Given the description of an element on the screen output the (x, y) to click on. 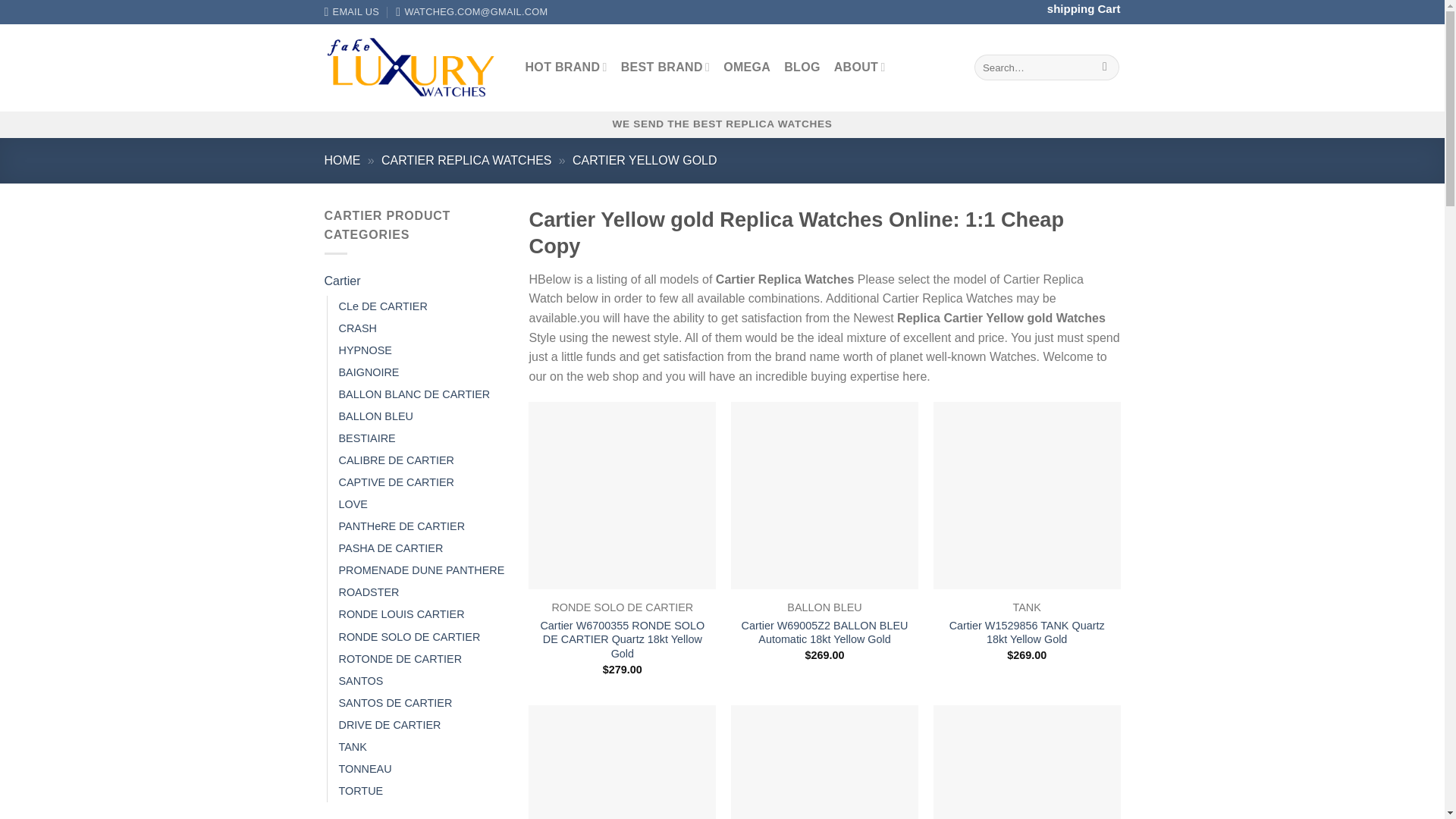
HOT BRAND (565, 66)
shipping Cart (1083, 8)
Luxury Watches USA - Best Place to purchase Luxury watches (413, 67)
BEST BRAND (665, 66)
EMAIL US (351, 11)
